Given the description of an element on the screen output the (x, y) to click on. 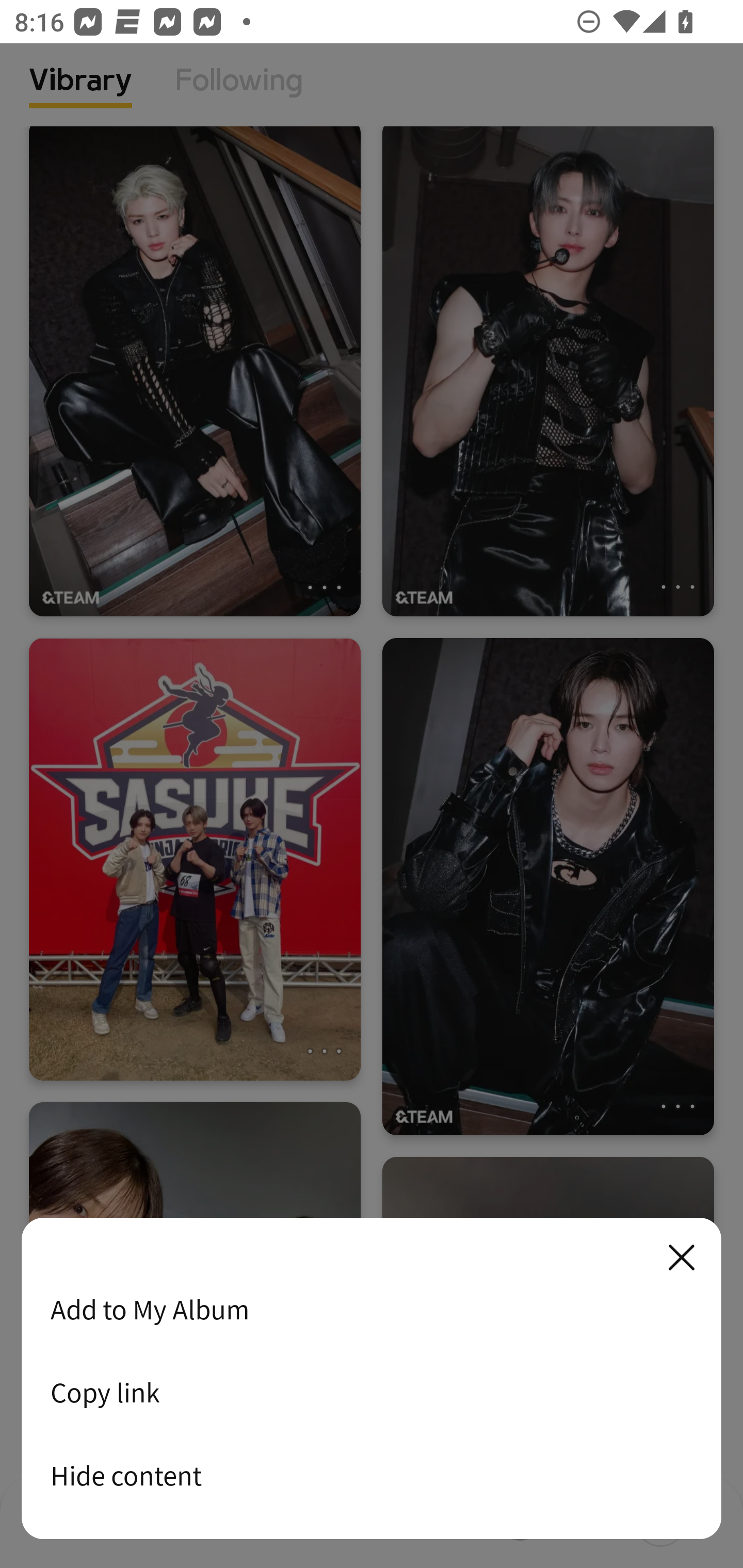
Add to My Album Copy link Hide content (371, 1378)
Add to My Album (371, 1308)
Copy link (371, 1391)
Hide content (371, 1474)
